Given the description of an element on the screen output the (x, y) to click on. 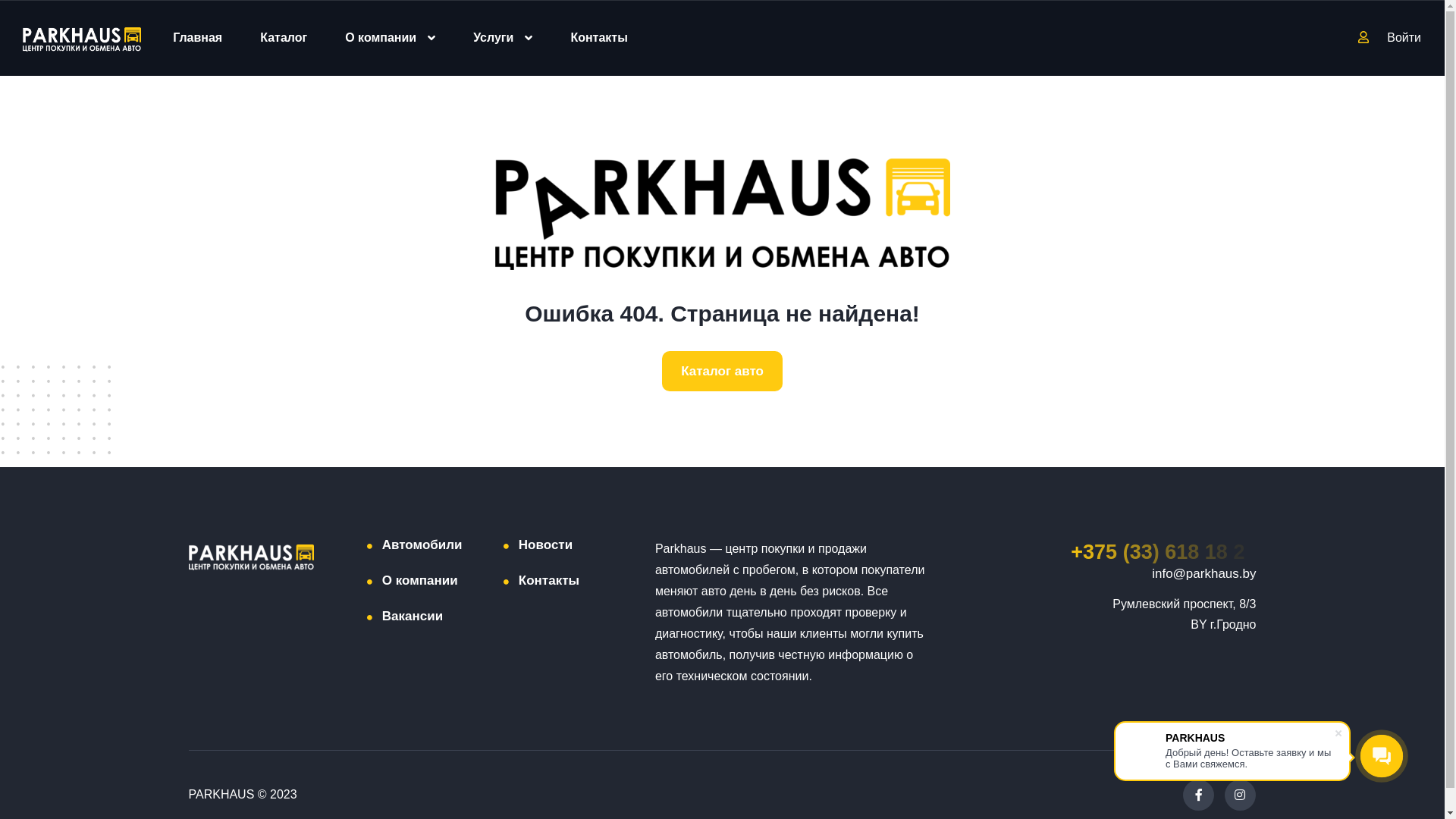
Facebook Element type: hover (1198, 794)
info@parkhaus.by Element type: text (1203, 573)
Instagram Element type: hover (1239, 794)
+375 (33) 618 18 2 Element type: text (1162, 551)
